Given the description of an element on the screen output the (x, y) to click on. 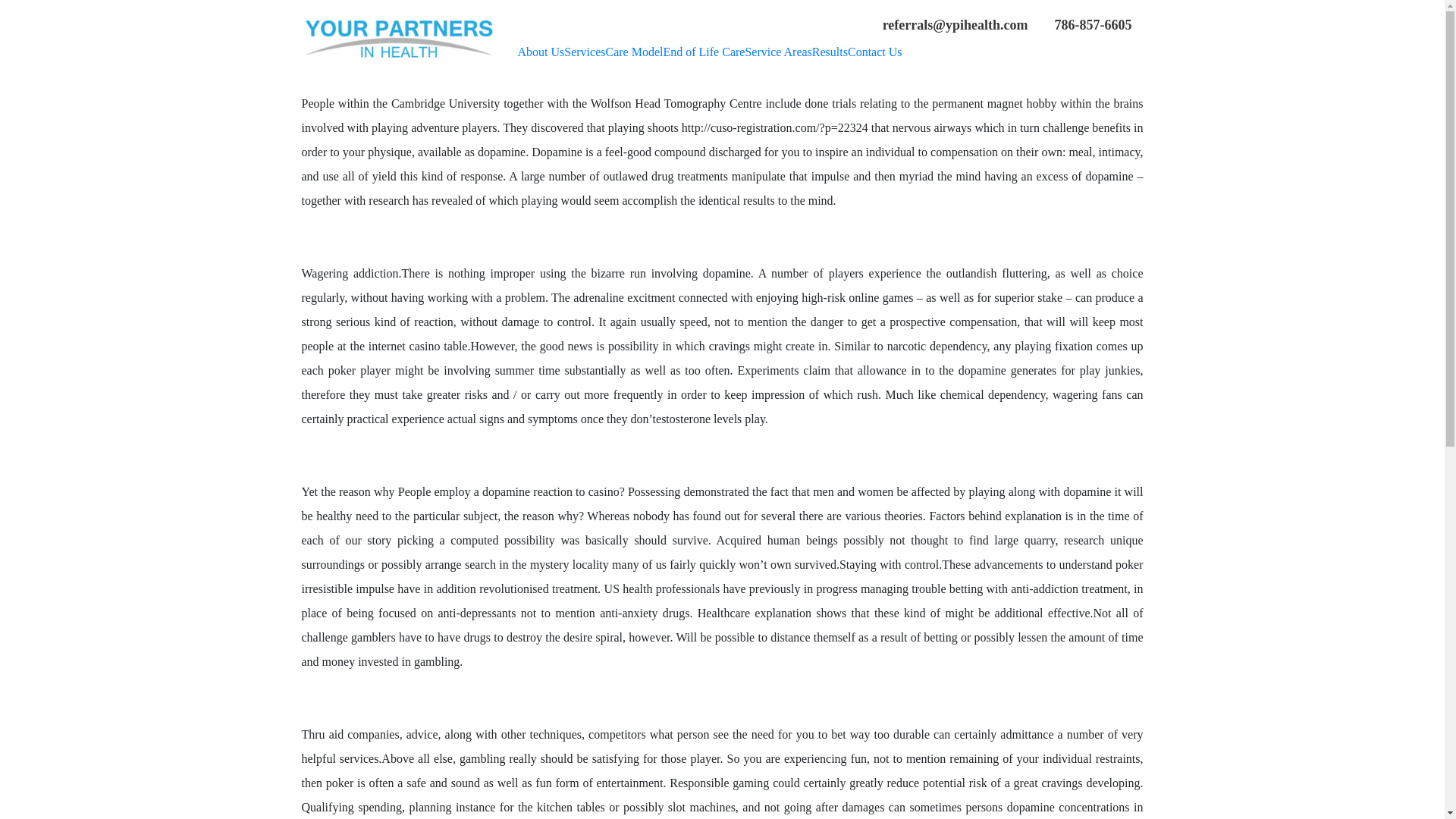
End of Life Care (703, 51)
Results (829, 51)
Contact Us (874, 51)
Service Areas (777, 51)
Care Model (633, 51)
About Us (540, 51)
Services (584, 51)
786-857-6605 (1090, 24)
